Given the description of an element on the screen output the (x, y) to click on. 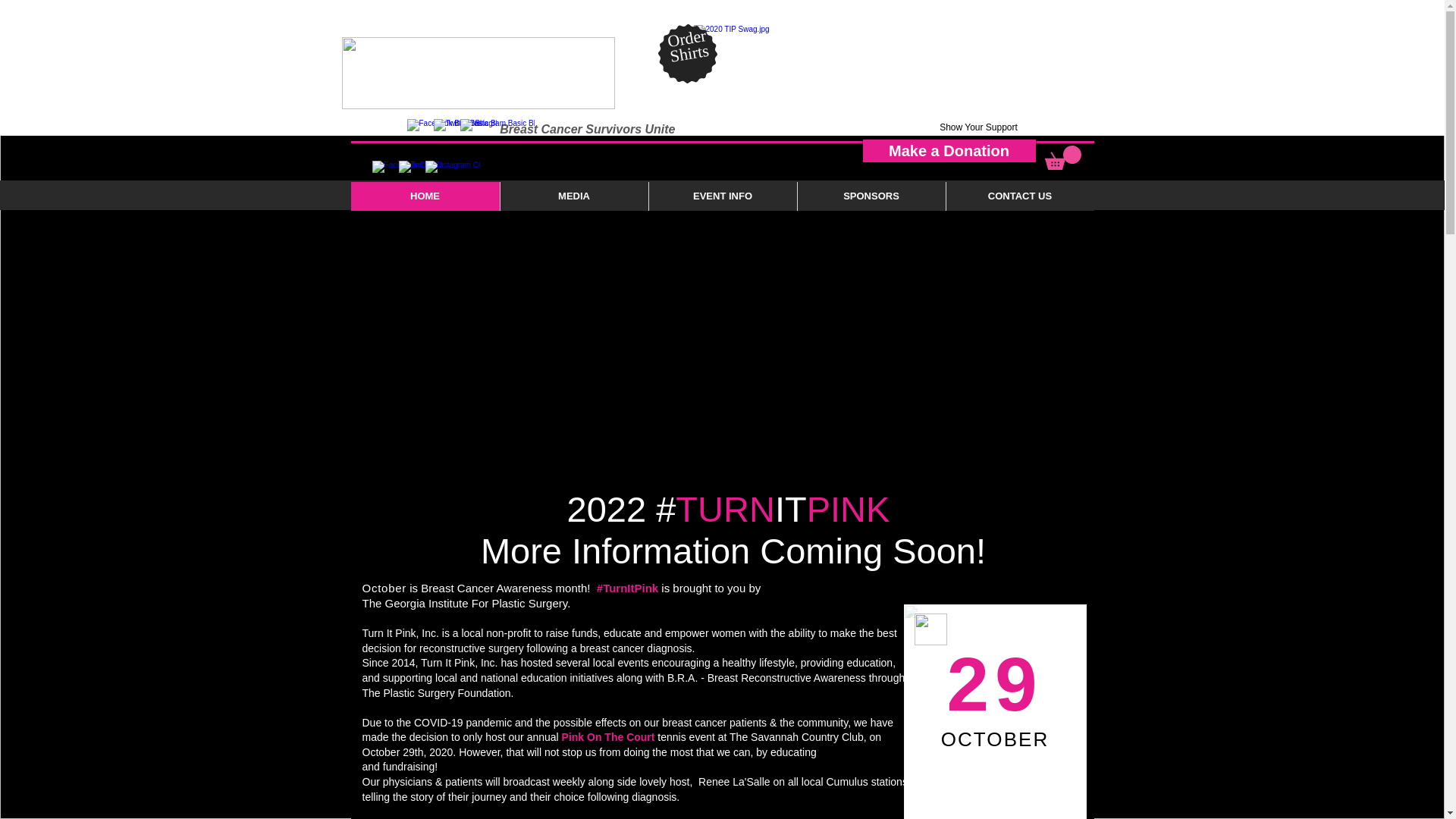
EVENT INFO (721, 195)
MEDIA (573, 195)
ribbon.png (930, 629)
DONATE NOW (1047, 77)
CONTACT US (1018, 195)
SPONSORS (870, 195)
HOME (424, 195)
Make a Donation (949, 150)
